Given the description of an element on the screen output the (x, y) to click on. 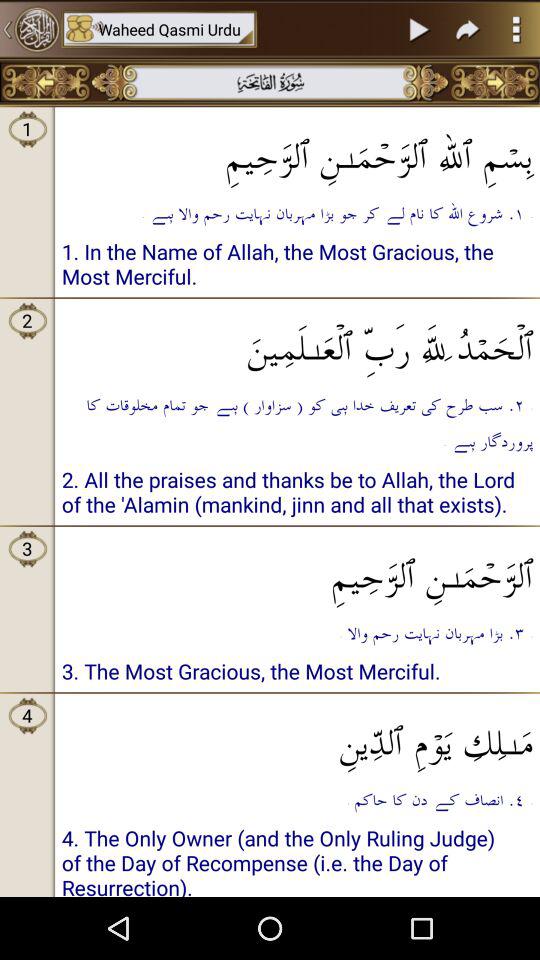
open options menu (516, 29)
